Given the description of an element on the screen output the (x, y) to click on. 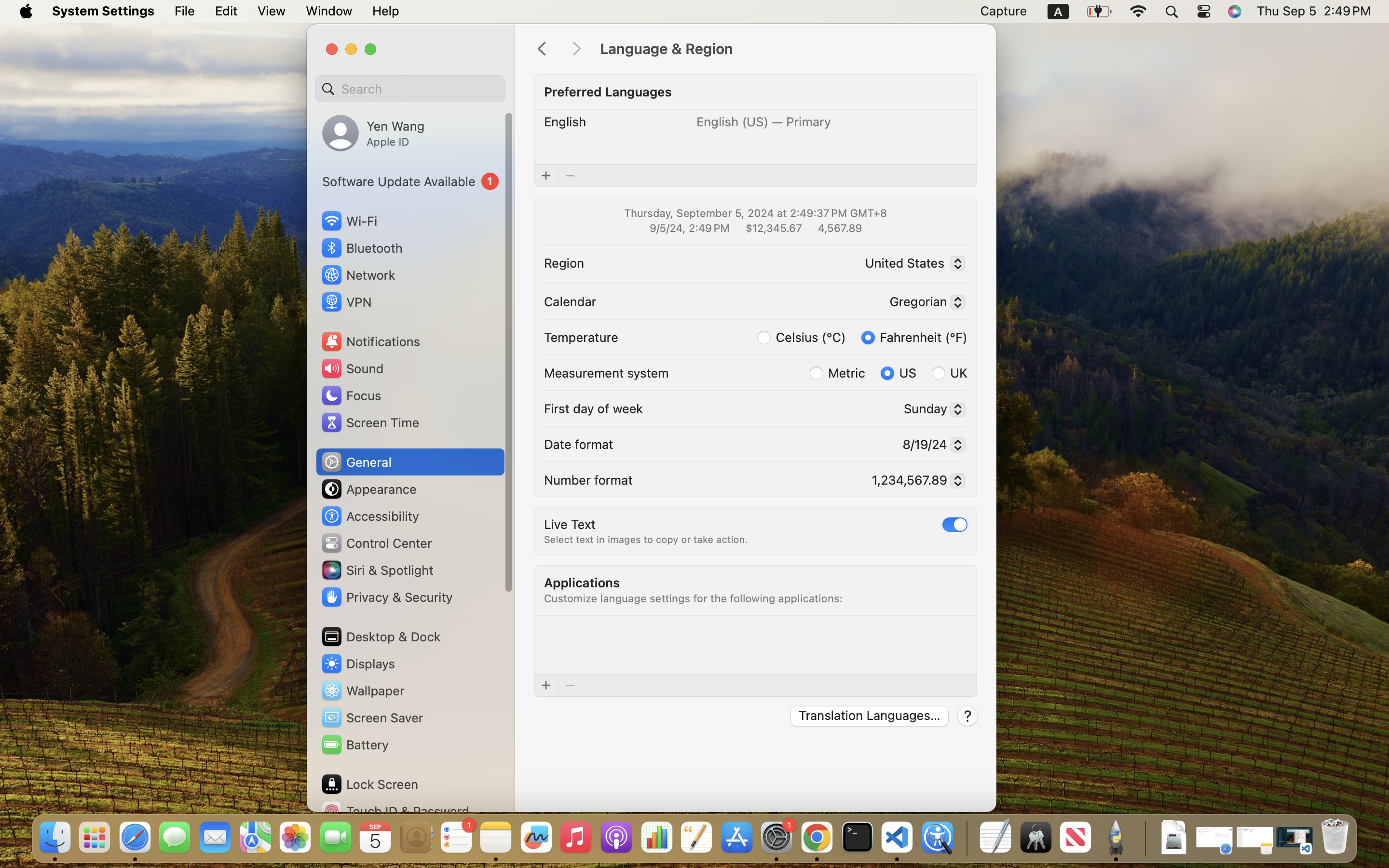
Battery Element type: AXStaticText (354, 744)
Measurement system Element type: AXStaticText (606, 371)
Number format Element type: AXStaticText (588, 479)
8/19/24 Element type: AXPopUpButton (929, 446)
Live Text Element type: AXStaticText (569, 523)
